Given the description of an element on the screen output the (x, y) to click on. 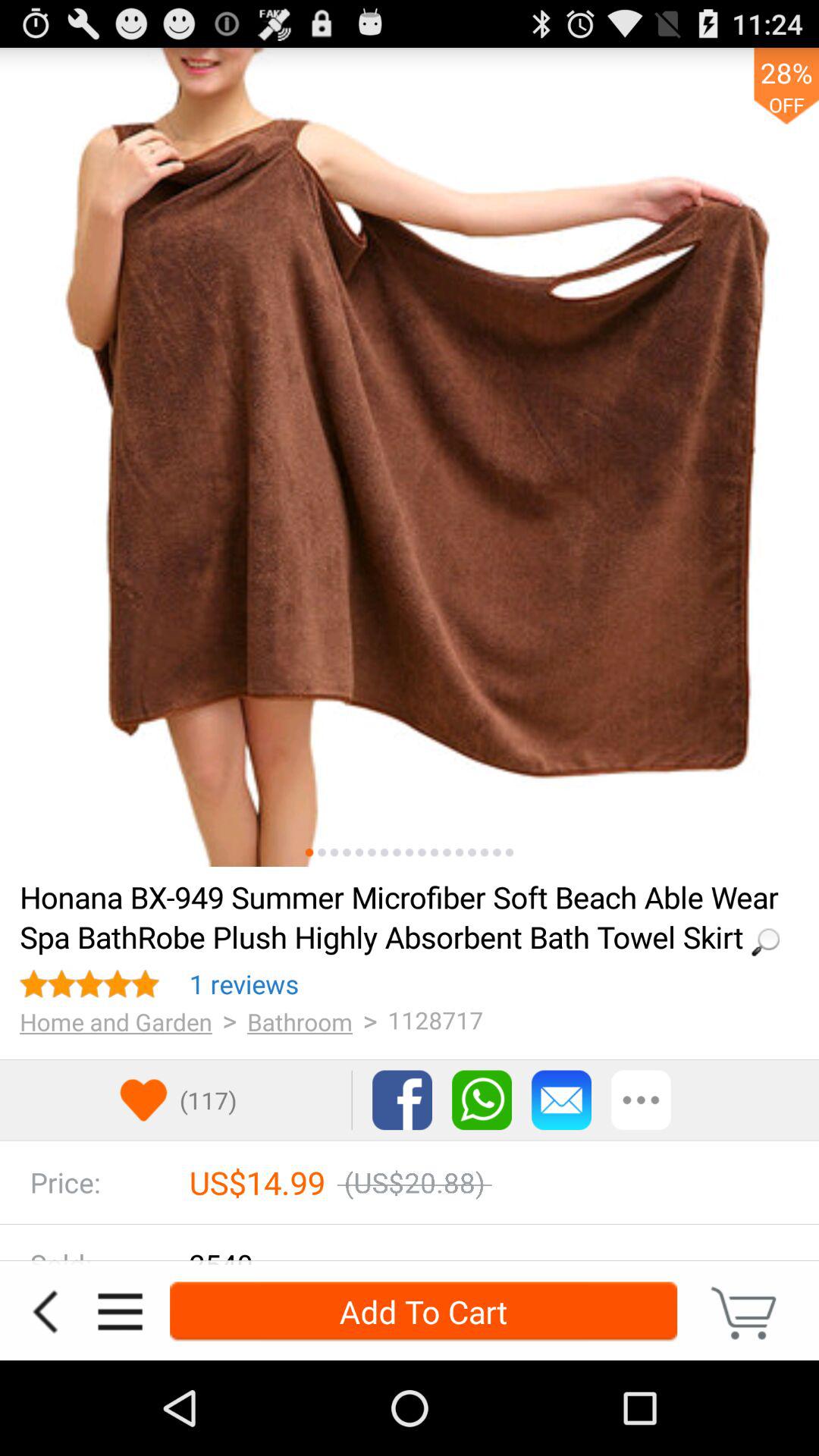
see this image (447, 852)
